Given the description of an element on the screen output the (x, y) to click on. 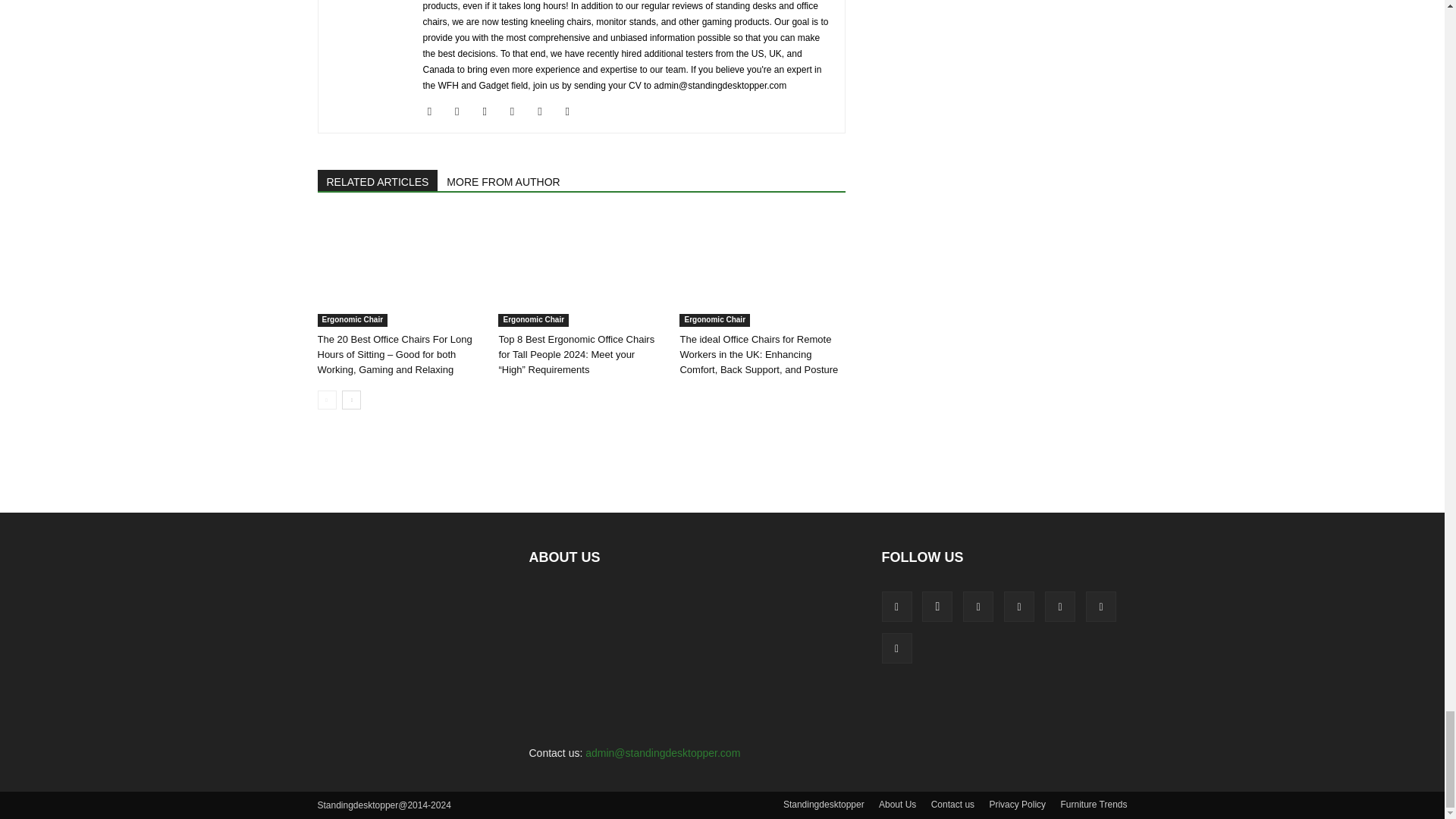
Reddit (544, 111)
Mail (489, 111)
Instagram (462, 111)
Facebook (435, 111)
Pinterest (518, 111)
